Given the description of an element on the screen output the (x, y) to click on. 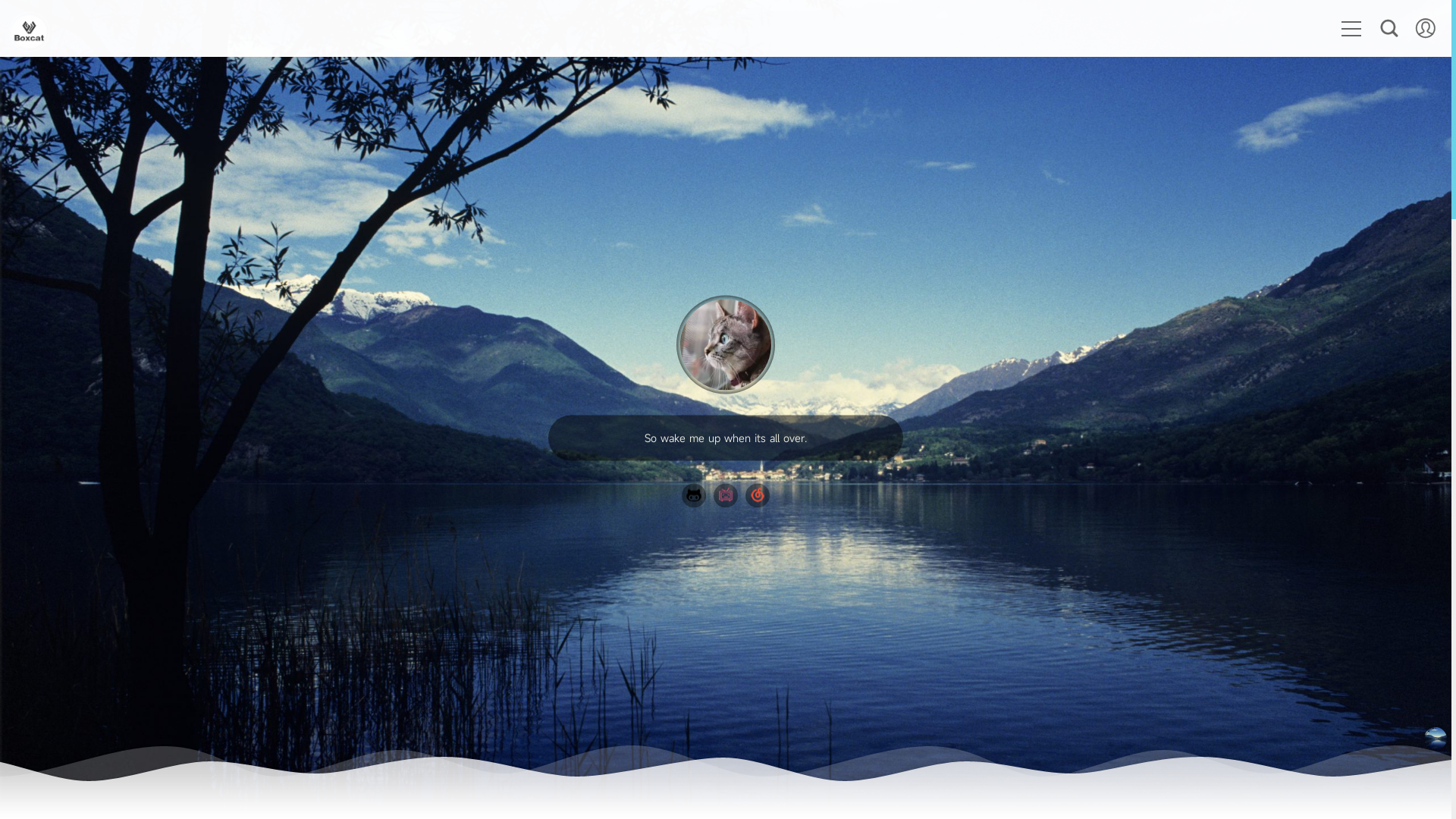
bilibili Element type: hover (725, 495)
CloudMusic Element type: hover (757, 495)
github Element type: hover (693, 495)
